Given the description of an element on the screen output the (x, y) to click on. 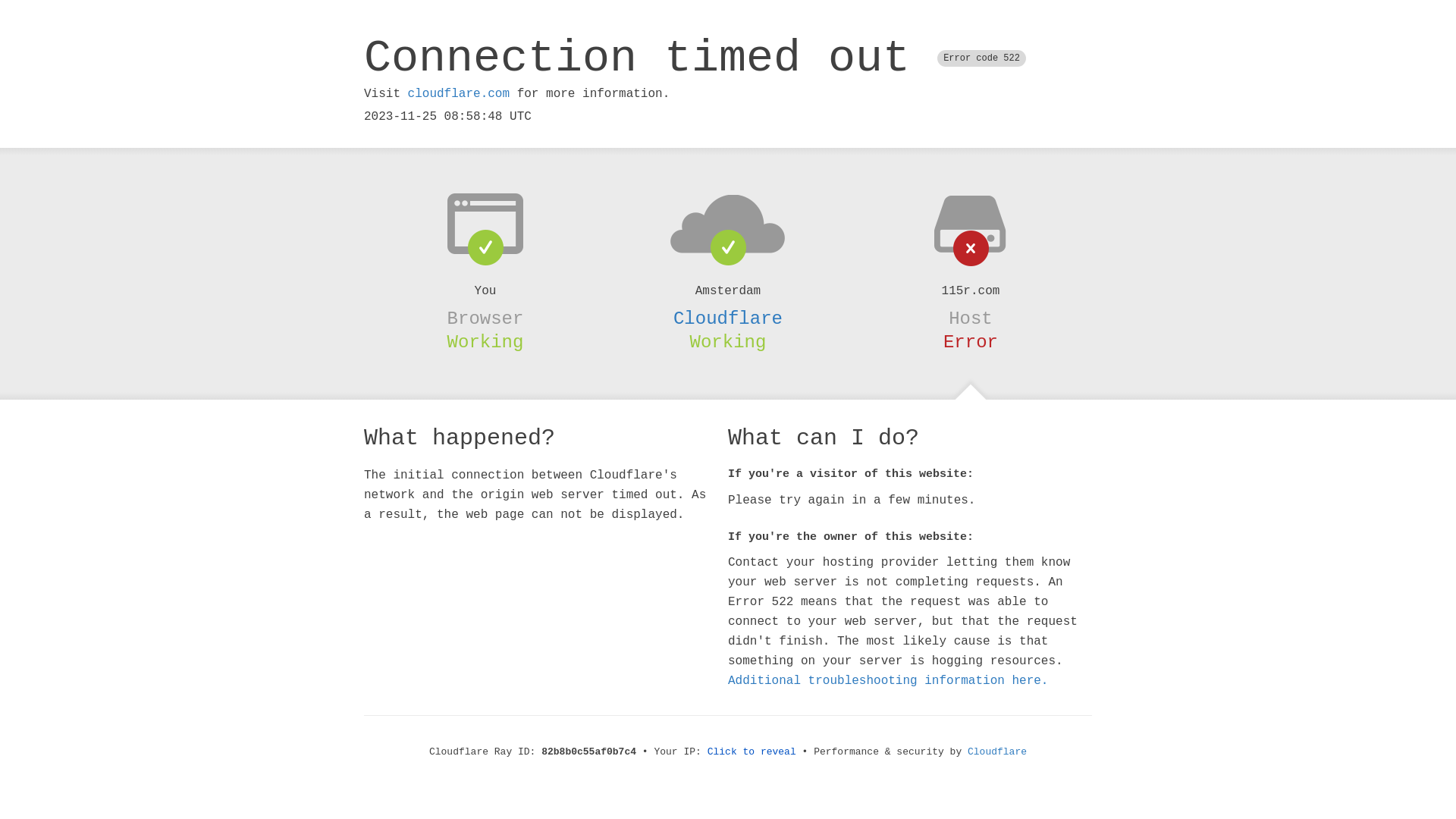
Cloudflare Element type: text (996, 751)
Click to reveal Element type: text (751, 751)
cloudflare.com Element type: text (458, 93)
Cloudflare Element type: text (727, 318)
Additional troubleshooting information here. Element type: text (888, 680)
